Given the description of an element on the screen output the (x, y) to click on. 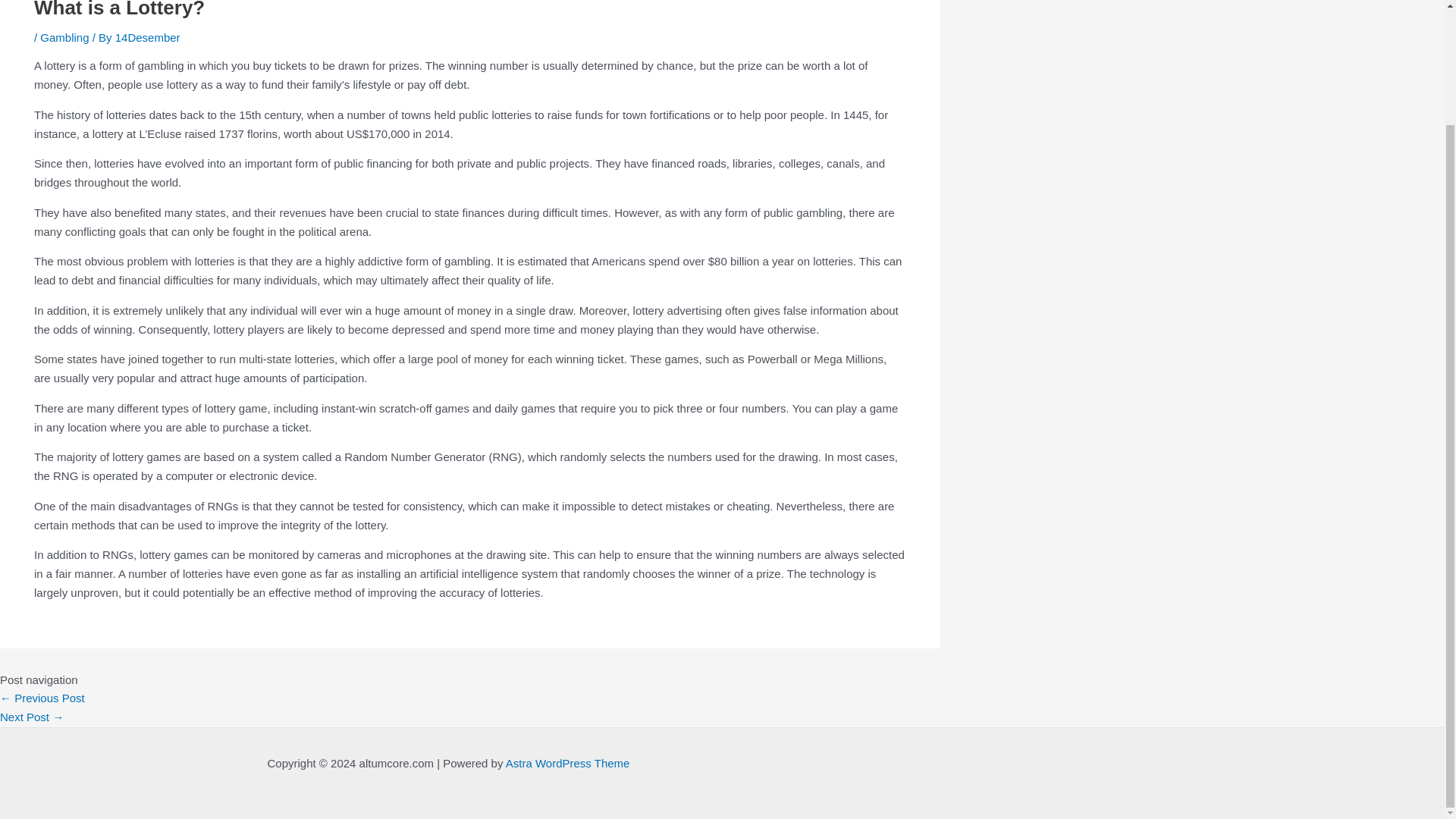
What Is a Slot Machine? (42, 697)
Gambling (64, 37)
View all posts by 14Desember (147, 37)
The Basics of Poker (32, 716)
14Desember (147, 37)
Astra WordPress Theme (567, 762)
